Given the description of an element on the screen output the (x, y) to click on. 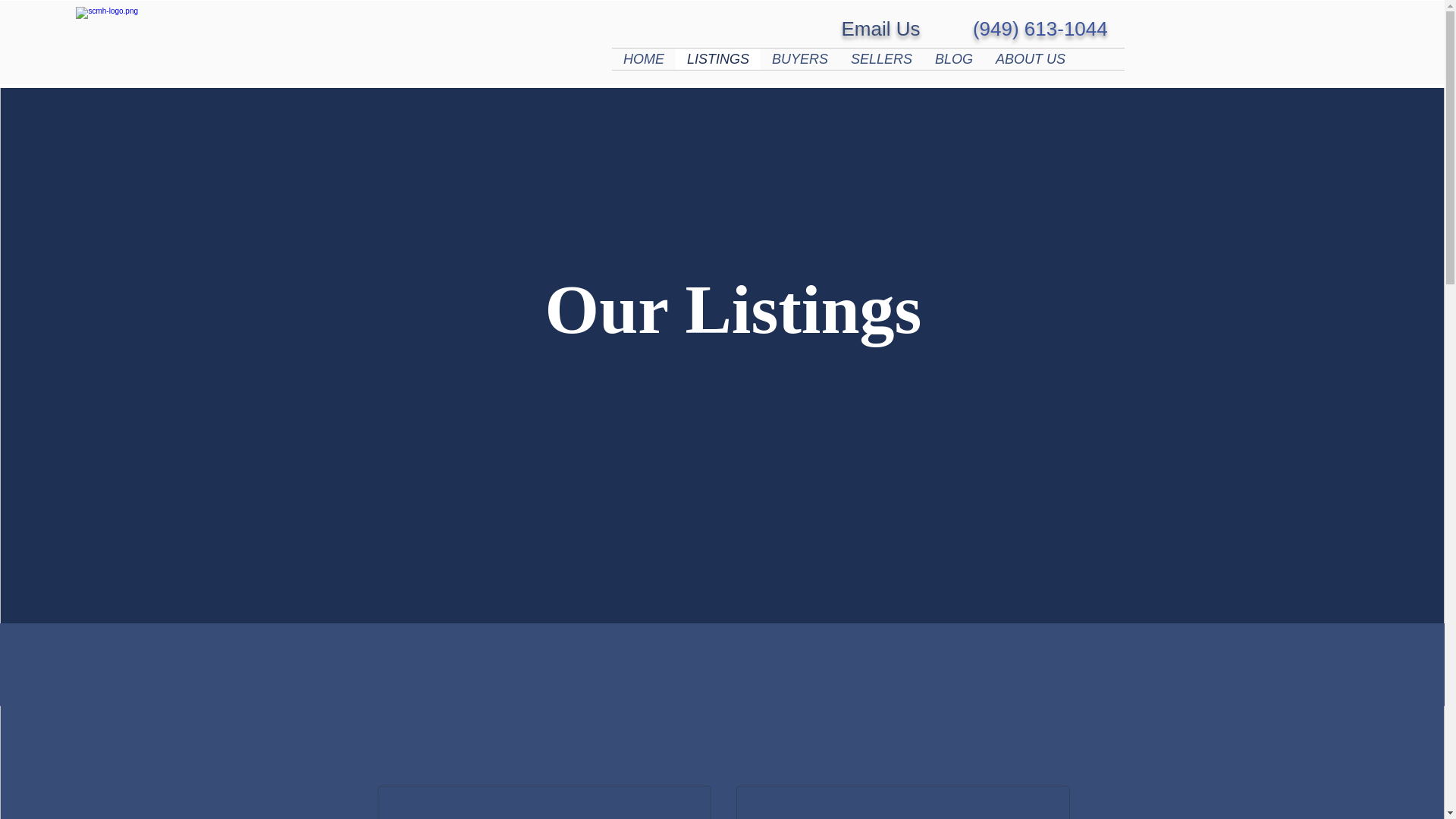
LISTINGS (717, 58)
BLOG (953, 58)
HOME (643, 58)
Email Us (880, 28)
ABOUT US (1030, 58)
BUYERS (800, 58)
SELLERS (881, 58)
